Given the description of an element on the screen output the (x, y) to click on. 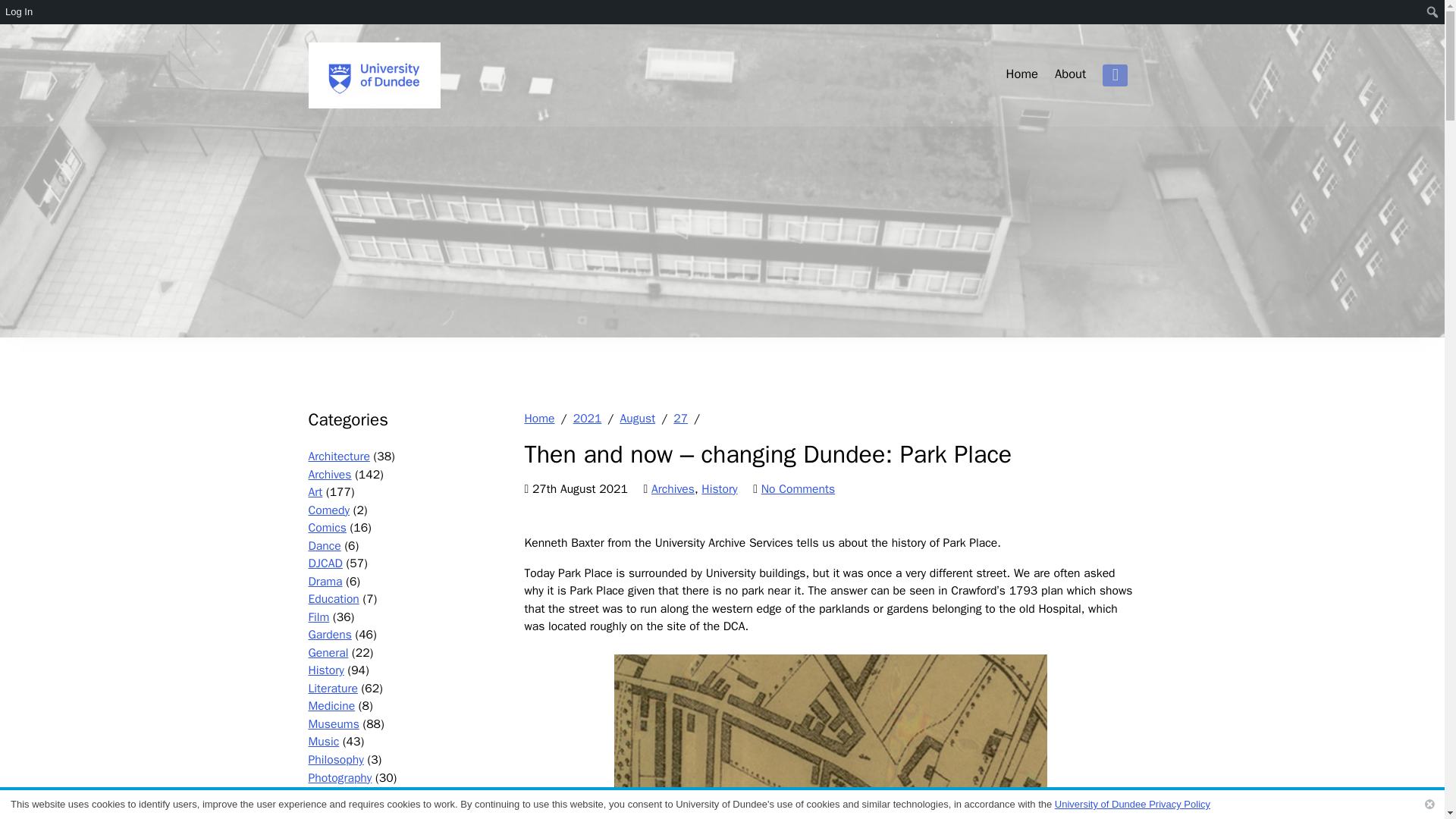
Home (1022, 74)
DJCAD (324, 563)
Science (328, 812)
General (327, 652)
Photography (339, 777)
Dance (323, 545)
Art (314, 491)
Music (323, 741)
Politics (326, 795)
Comedy (328, 509)
Museums (332, 724)
Architecture (338, 456)
Gardens (328, 634)
University Culture Online (373, 75)
View Messages (34, 36)
